Given the description of an element on the screen output the (x, y) to click on. 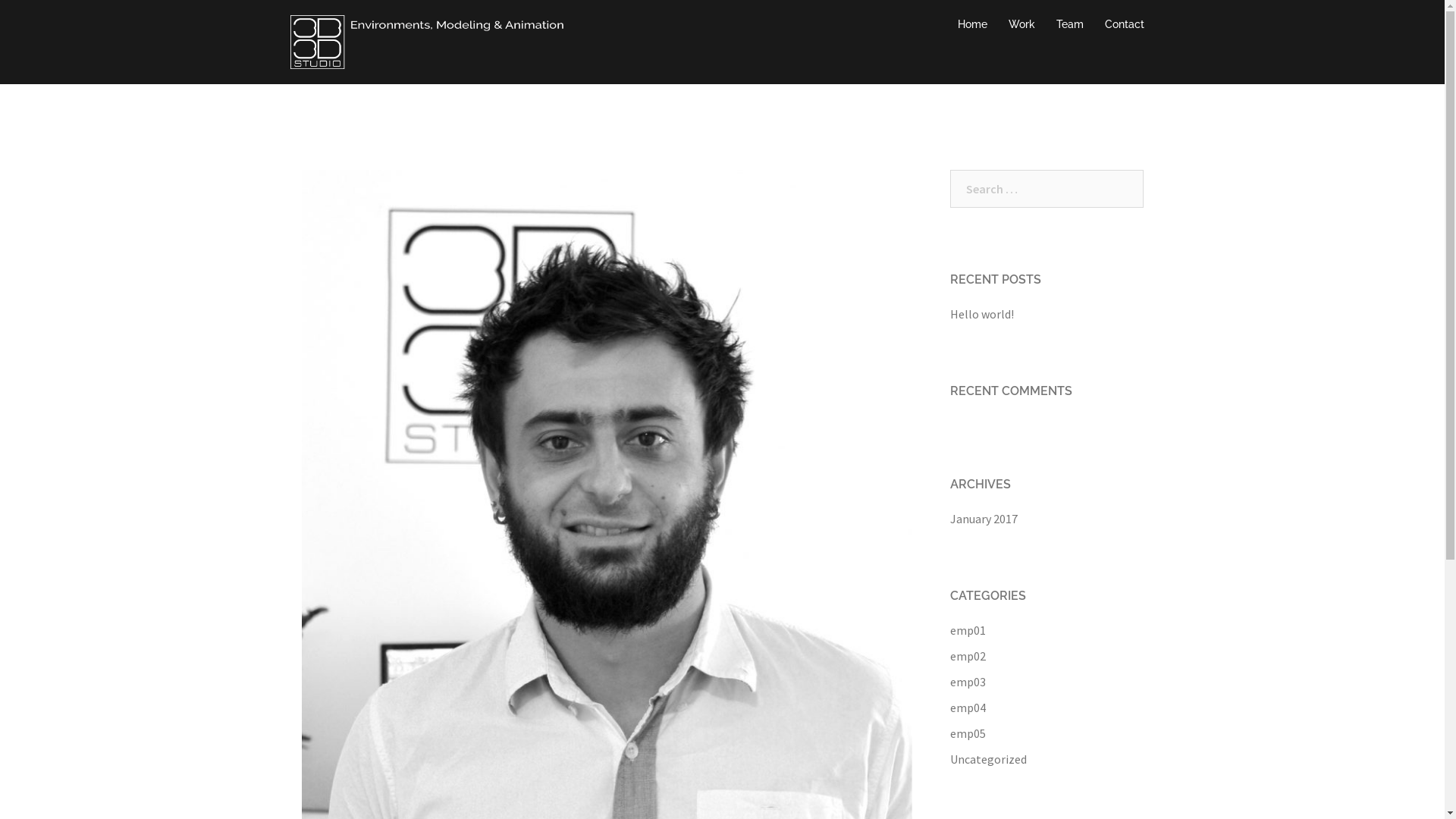
Work Element type: text (1021, 24)
Hello world! Element type: text (981, 313)
Uncategorized Element type: text (987, 758)
Contact Element type: text (1123, 24)
emp02 Element type: text (967, 655)
emp01 Element type: text (967, 629)
emp03 Element type: text (967, 681)
3B3D Element type: hover (425, 39)
January 2017 Element type: text (982, 518)
Team Element type: text (1068, 24)
Home Element type: text (971, 24)
emp04 Element type: text (967, 707)
Search Element type: text (46, 18)
emp05 Element type: text (967, 732)
Skip to content Element type: text (0, 0)
